Given the description of an element on the screen output the (x, y) to click on. 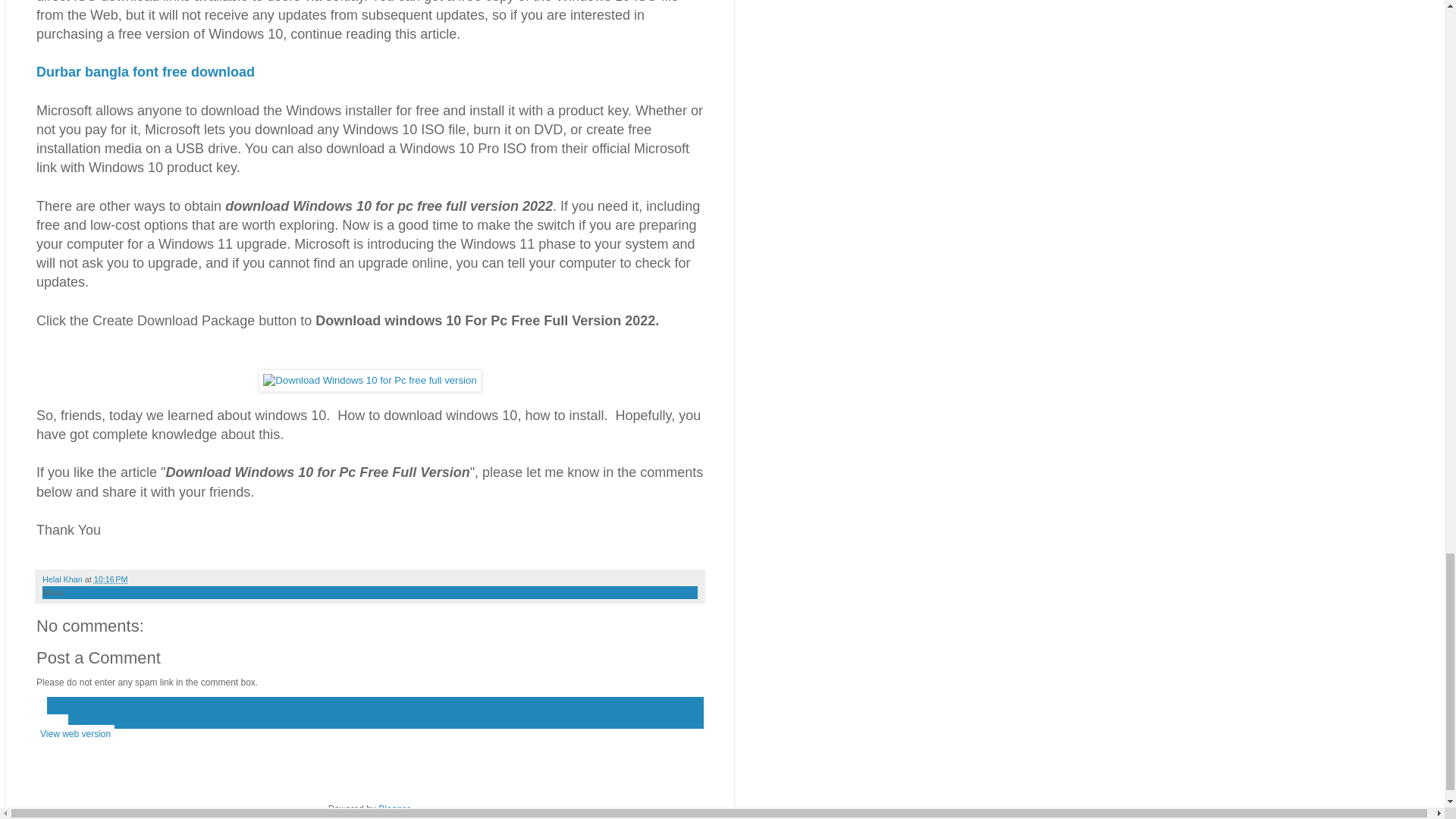
Download windows 10 full version free for Pc (369, 380)
Blogger (393, 808)
Share (53, 592)
permanent link (111, 578)
Post a Comment (98, 657)
Durbar bangla font free download (145, 71)
Home (52, 723)
View web version (75, 733)
author profile (63, 578)
Helal Khan (63, 578)
